Given the description of an element on the screen output the (x, y) to click on. 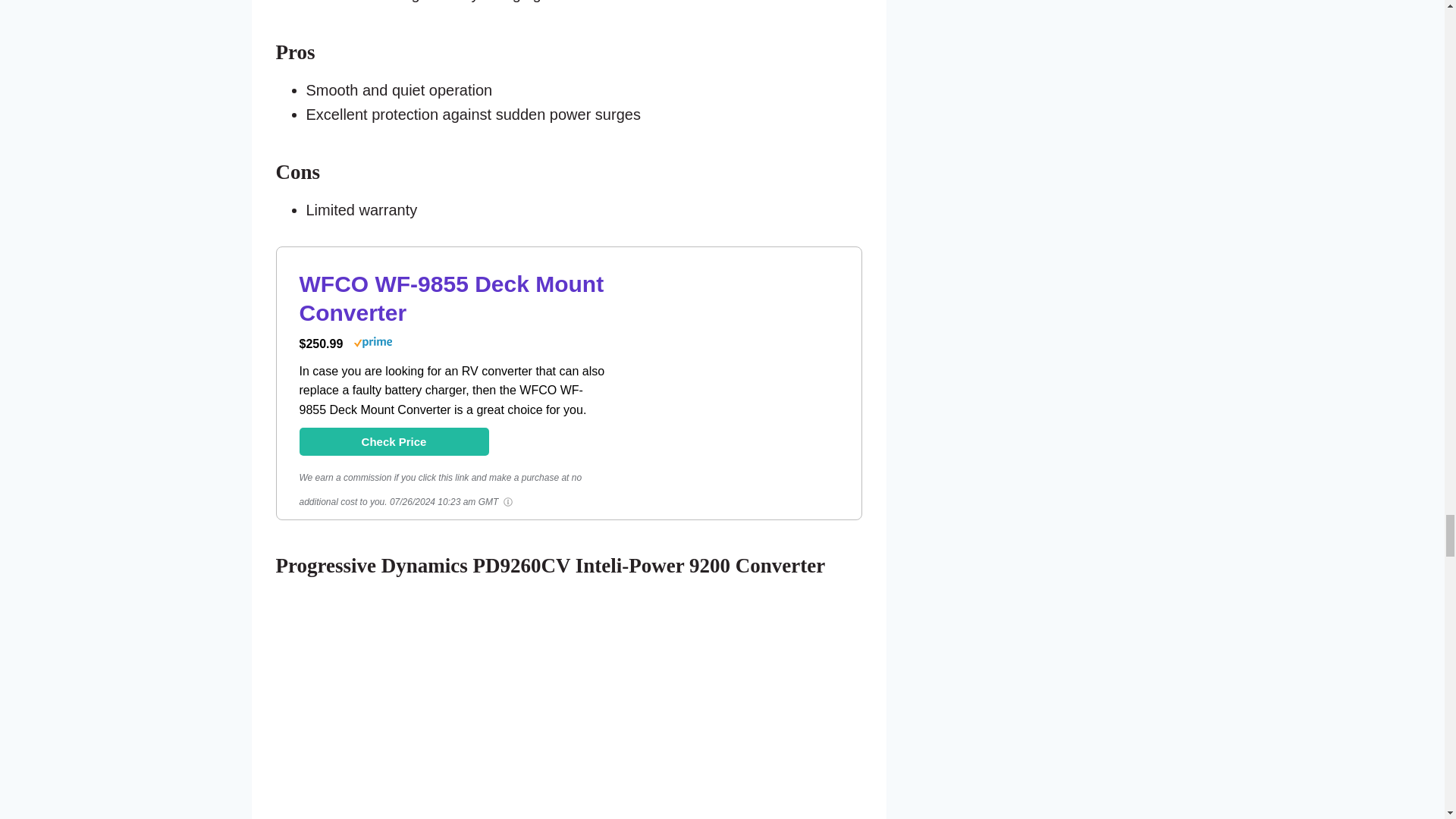
WFCO WF-9855 Deck Mount Converter (743, 479)
WFCO WF-9855 Deck Mount Converter (392, 441)
WFCO WF-9855 Deck Mount Converter (451, 298)
